Given the description of an element on the screen output the (x, y) to click on. 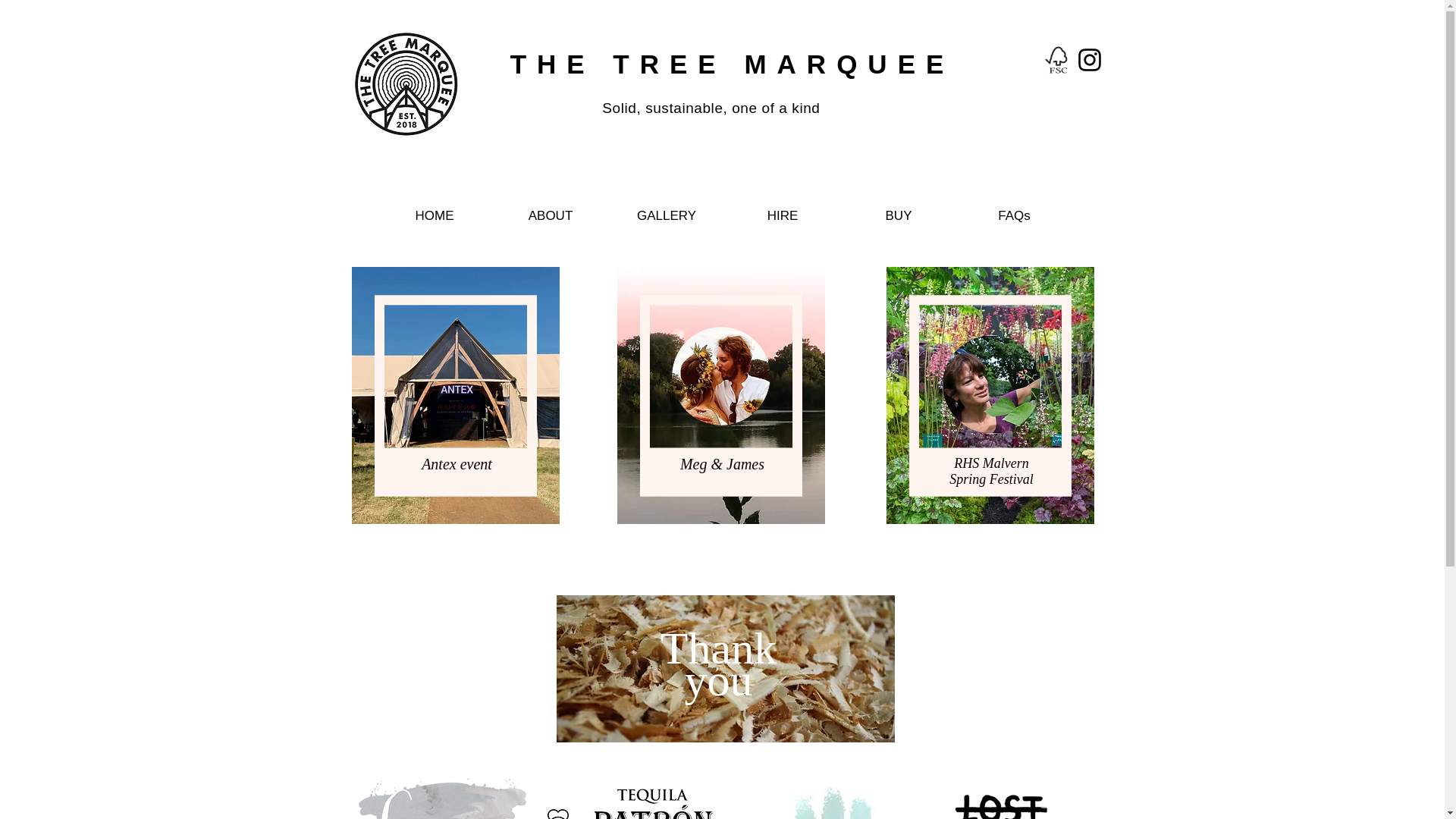
FAQs (1013, 215)
BUY (898, 215)
HIRE (783, 215)
THE TREE MARQUE (718, 63)
HOME (433, 215)
E (939, 63)
GALLERY (665, 215)
ABOUT (550, 215)
